Given the description of an element on the screen output the (x, y) to click on. 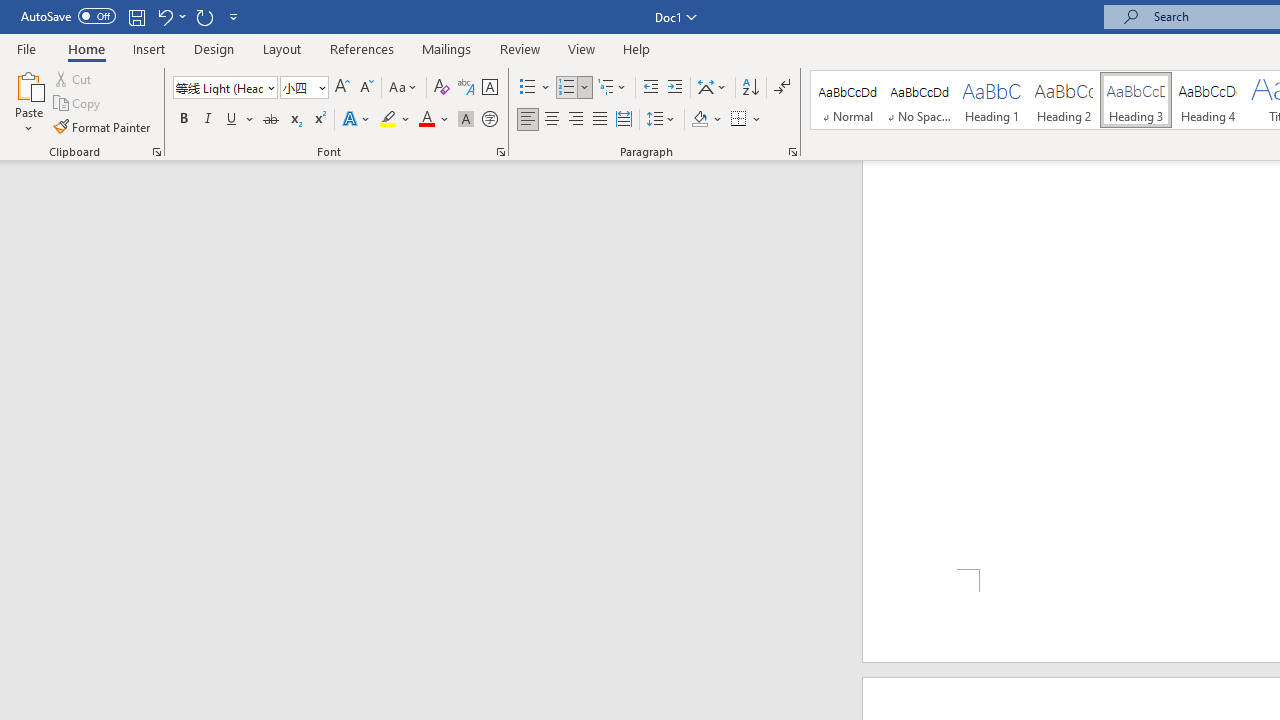
Heading 4 (1208, 100)
